Given the description of an element on the screen output the (x, y) to click on. 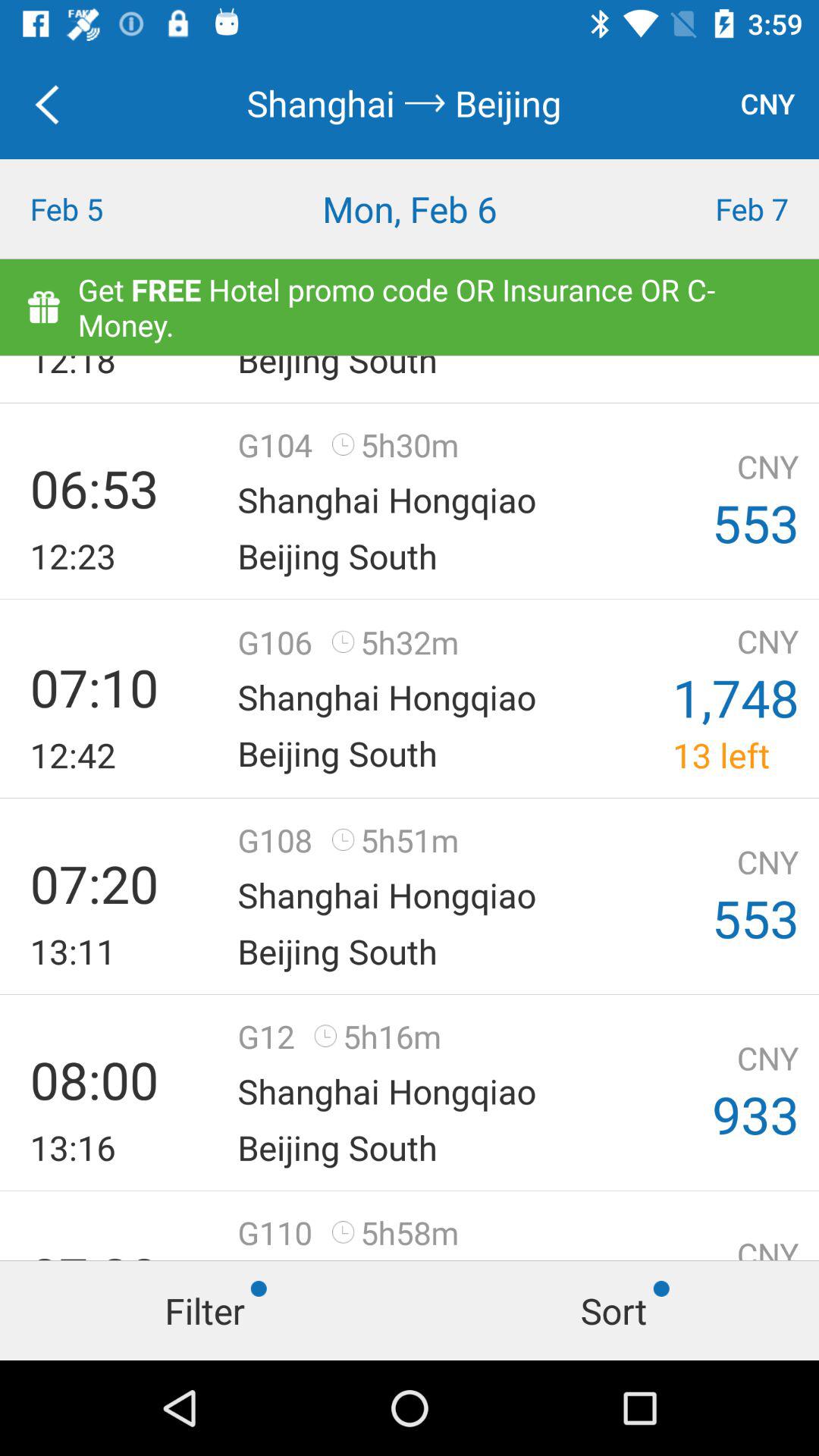
open icon next to the feb 7 icon (409, 208)
